Given the description of an element on the screen output the (x, y) to click on. 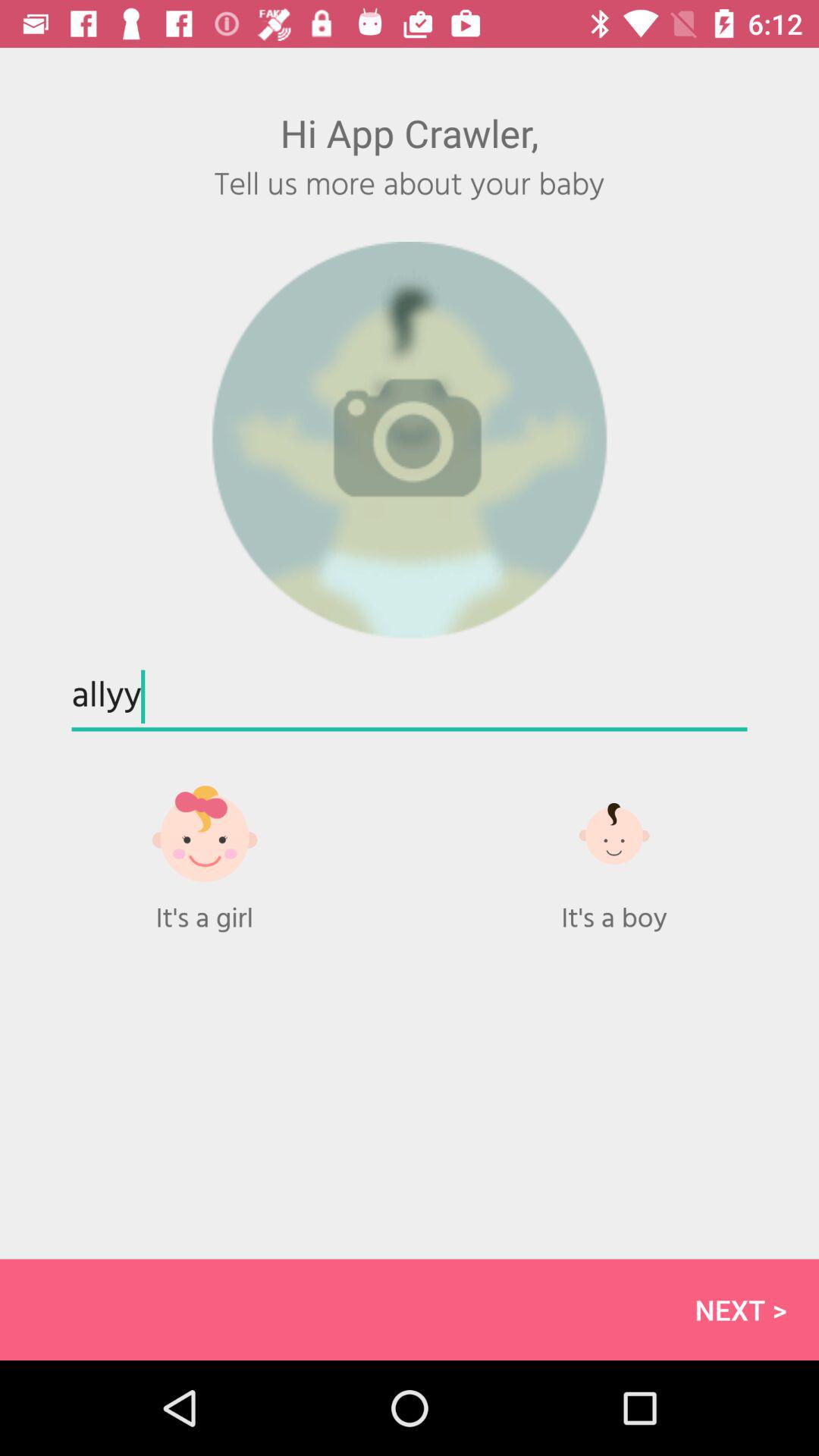
gift option (204, 849)
